Given the description of an element on the screen output the (x, y) to click on. 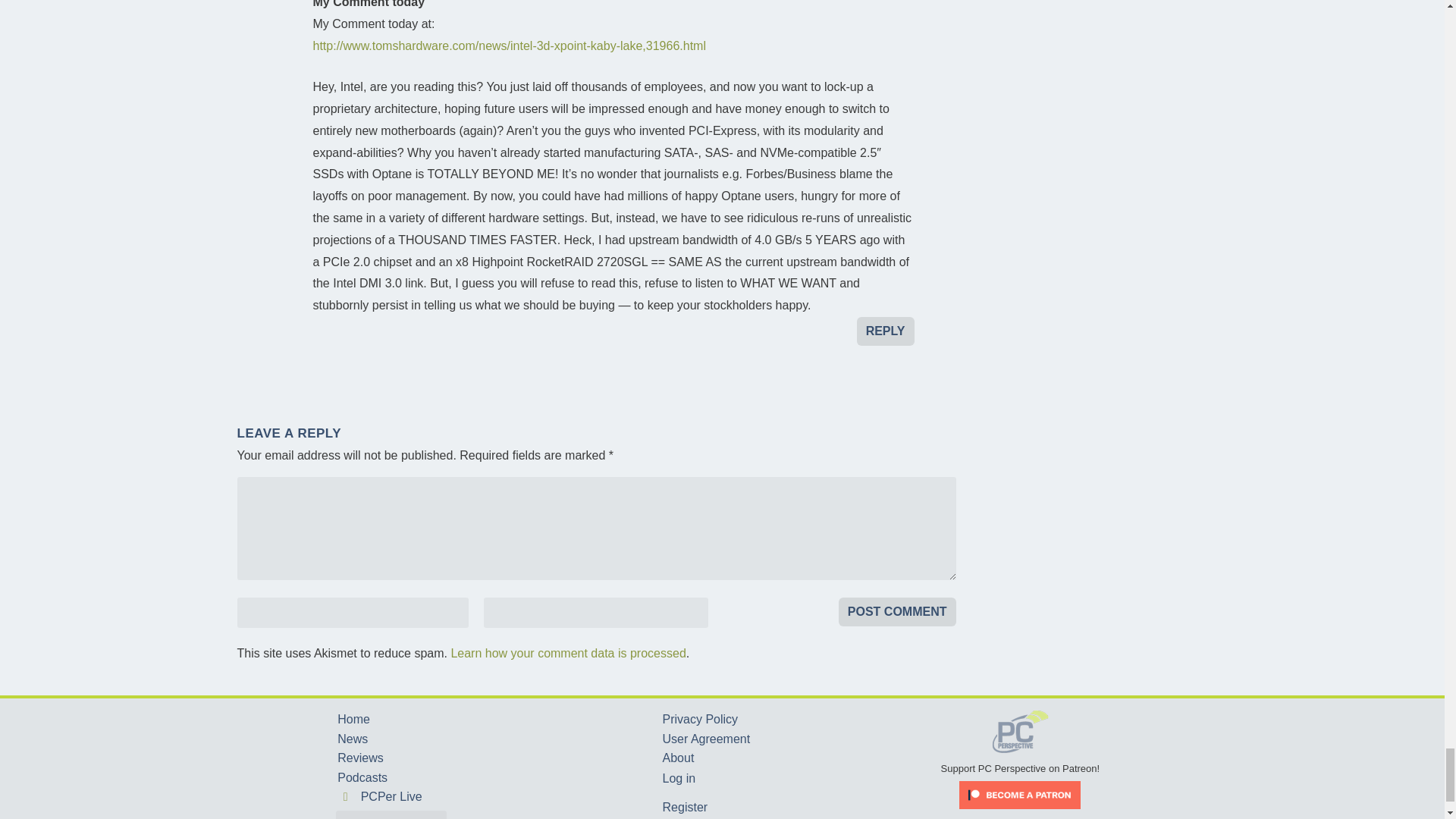
Support PC Perspective on Patreon! (1020, 762)
Post Comment (897, 611)
